Given the description of an element on the screen output the (x, y) to click on. 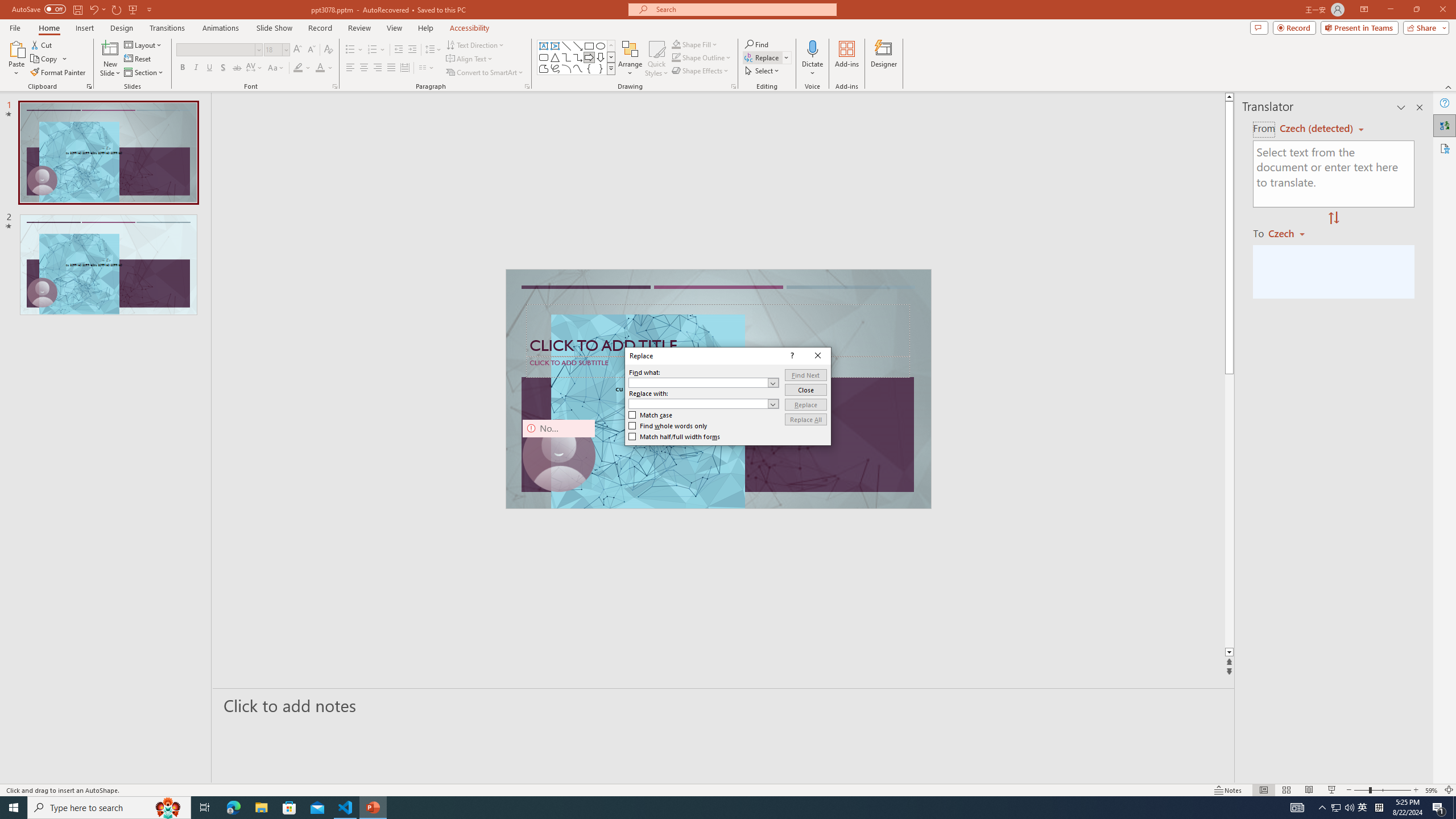
Running applications (707, 807)
Shape Effects (700, 69)
Replace with (703, 403)
